Given the description of an element on the screen output the (x, y) to click on. 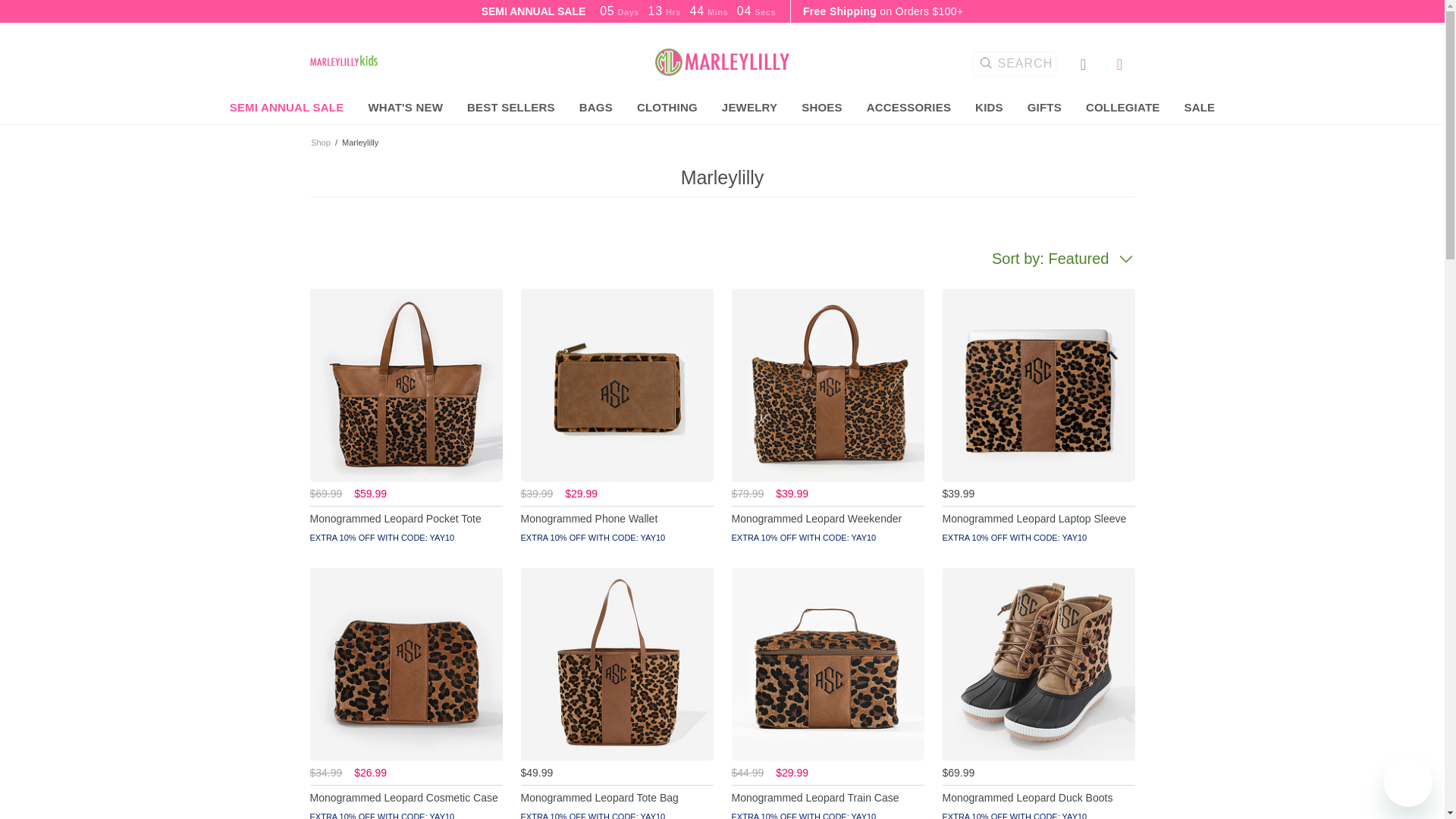
SEMI ANNUAL SALE (286, 108)
SEMI ANNUAL SALE 05Days 13Hrs 44Mins 04Secs (628, 12)
Monogrammed Kids' Clothing Sale (342, 59)
BAGS (595, 108)
BEST SELLERS (510, 108)
WHAT'S NEW (405, 108)
